Given the description of an element on the screen output the (x, y) to click on. 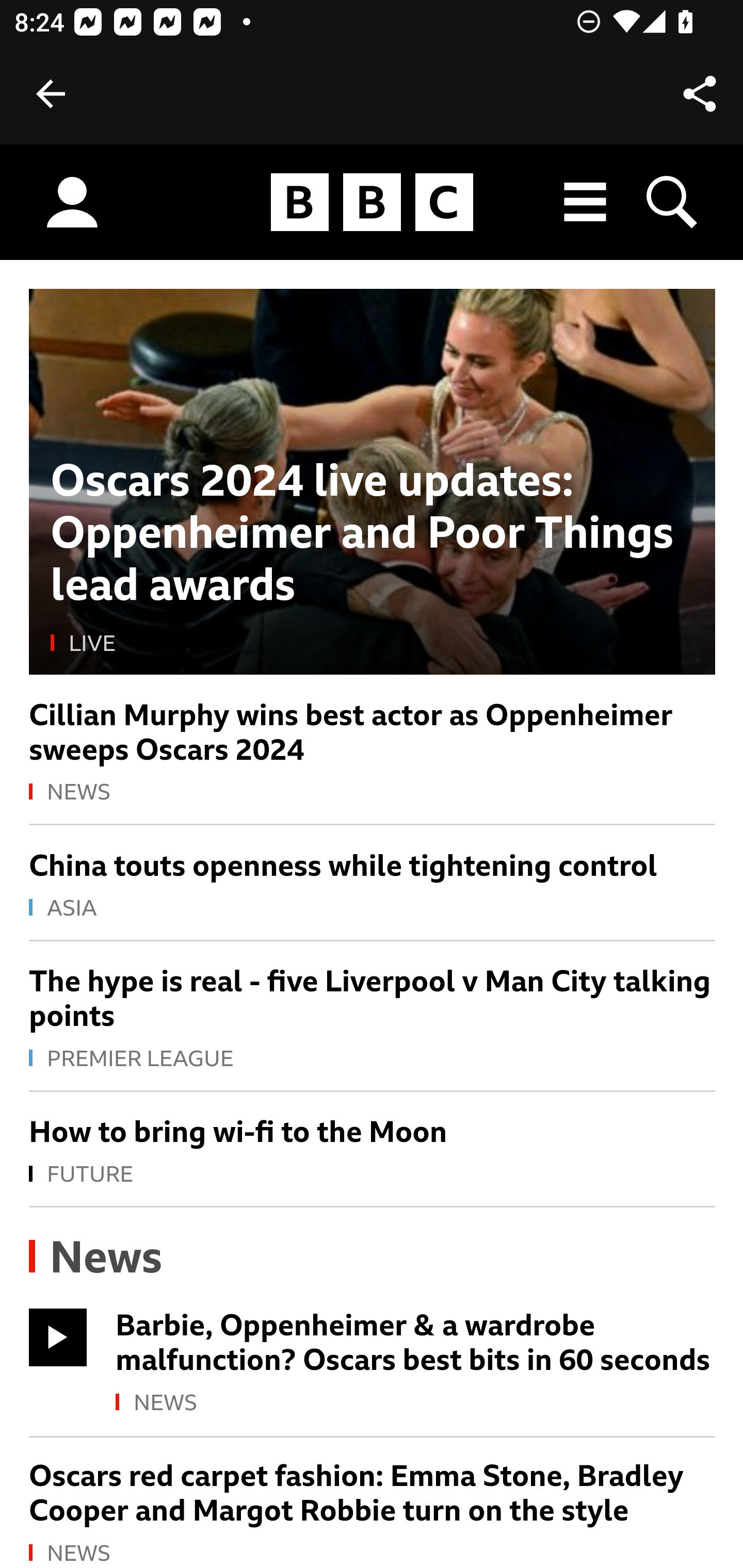
Back (50, 93)
Share (699, 93)
All BBC destinations menu (585, 202)
Search BBC (672, 202)
Sign in (71, 203)
Homepage (371, 203)
 LIVE    LIVE (372, 643)
 NEWS    NEWS (372, 792)
 ASIA    ASIA (372, 908)
 PREMIER LEAGUE    PREMIER LEAGUE (372, 1058)
 FUTURE    FUTURE (372, 1174)
 News    News (96, 1258)
 NEWS    NEWS (415, 1403)
 NEWS    NEWS (372, 1552)
